Given the description of an element on the screen output the (x, y) to click on. 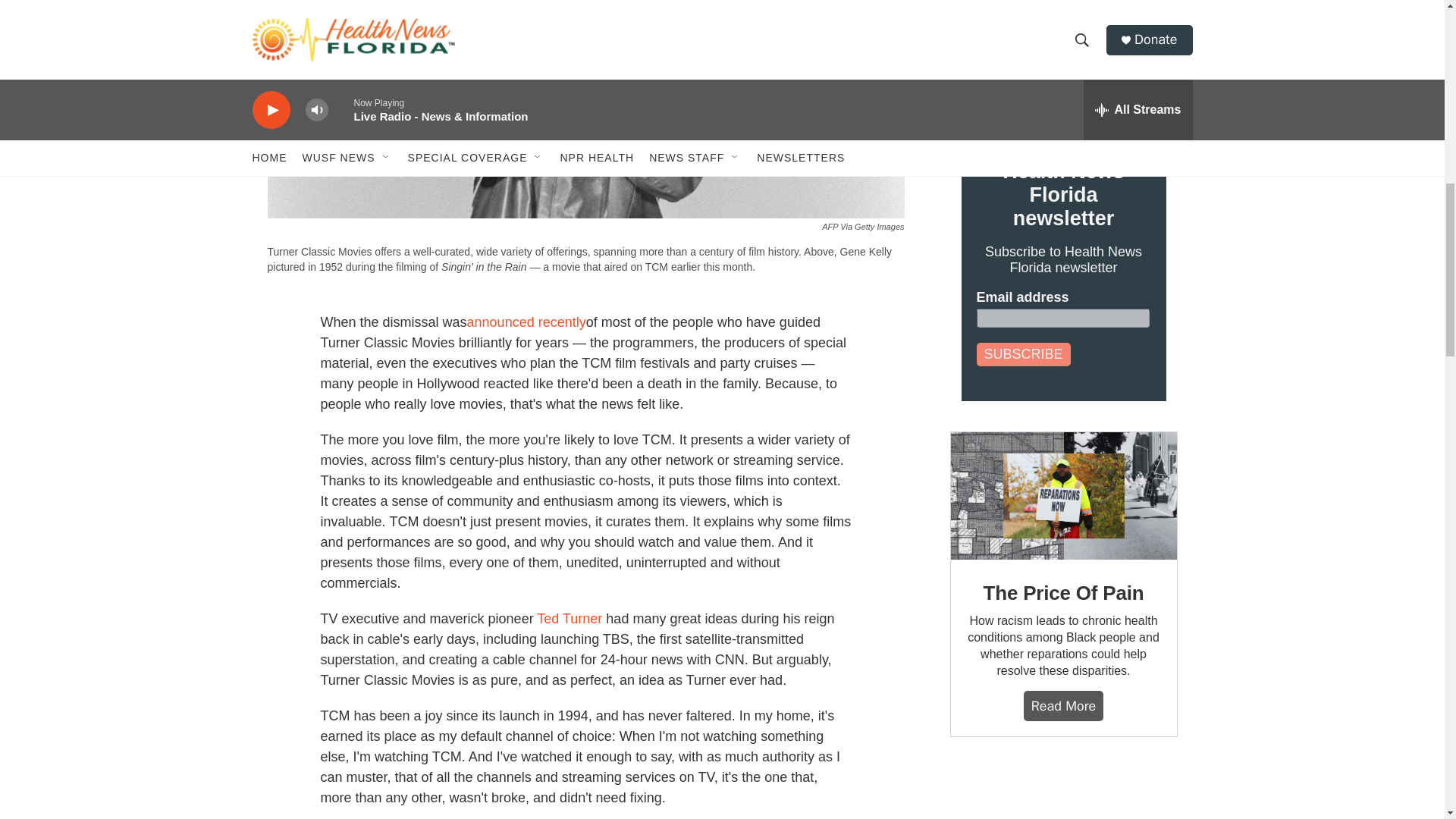
3rd party ad content (1062, 793)
